Given the description of an element on the screen output the (x, y) to click on. 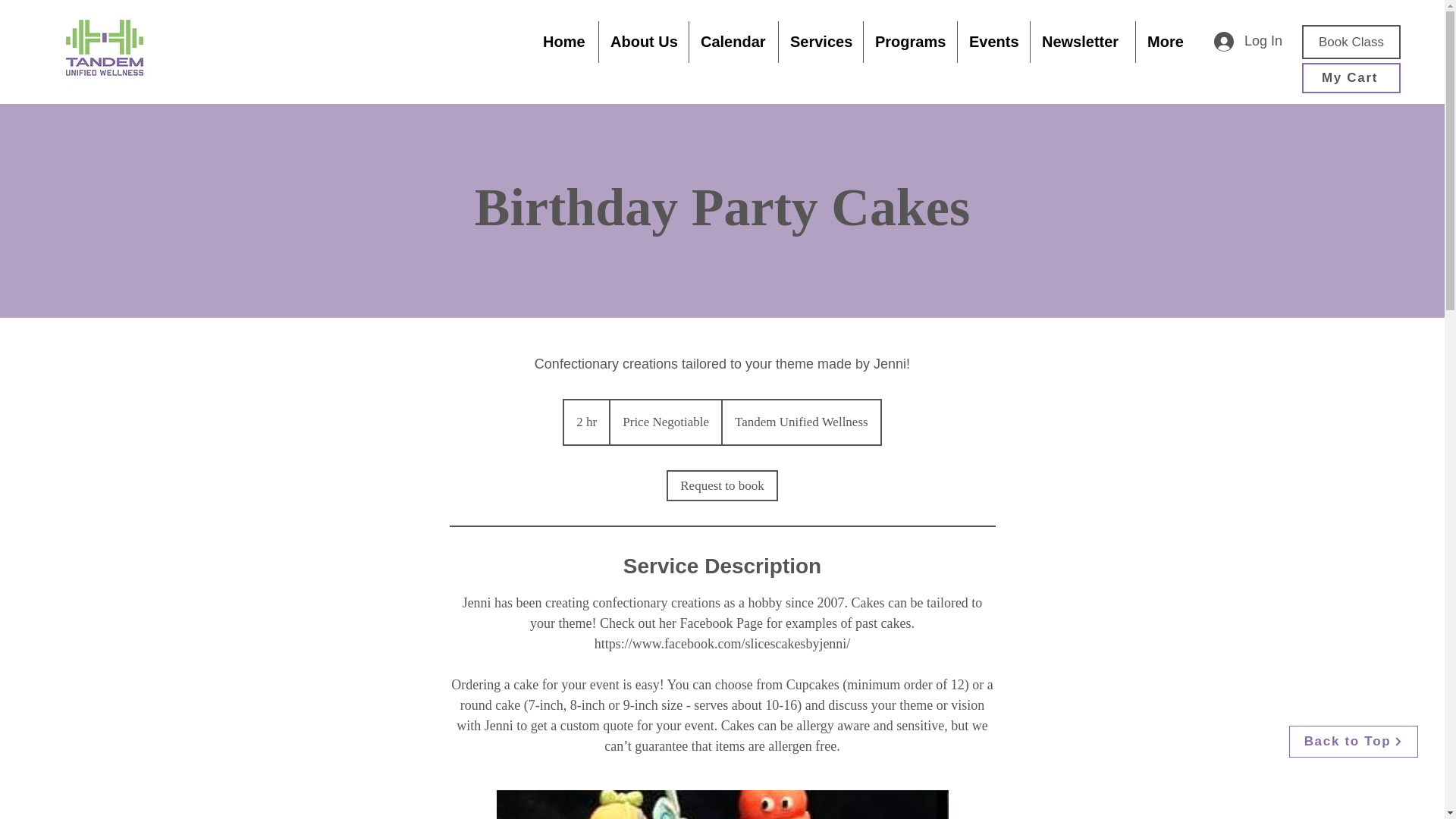
Back to Top (1353, 741)
Request to book (721, 485)
My Cart (1350, 78)
Calendar (732, 42)
Log In (1248, 41)
Events (993, 42)
Book Class (1350, 41)
About Us (643, 42)
Newsletter (1082, 42)
Home (564, 42)
